Given the description of an element on the screen output the (x, y) to click on. 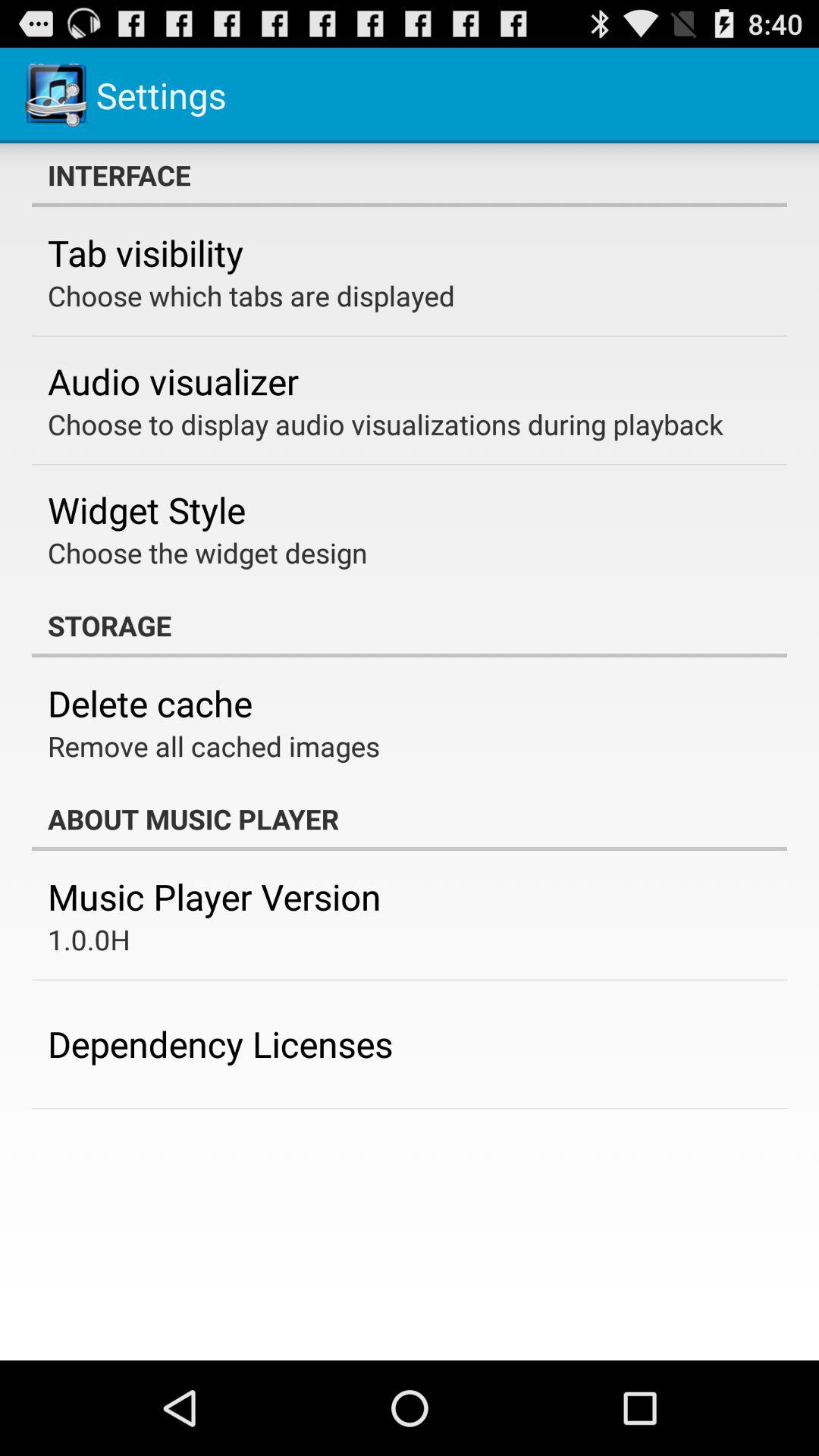
click the interface app (409, 175)
